Given the description of an element on the screen output the (x, y) to click on. 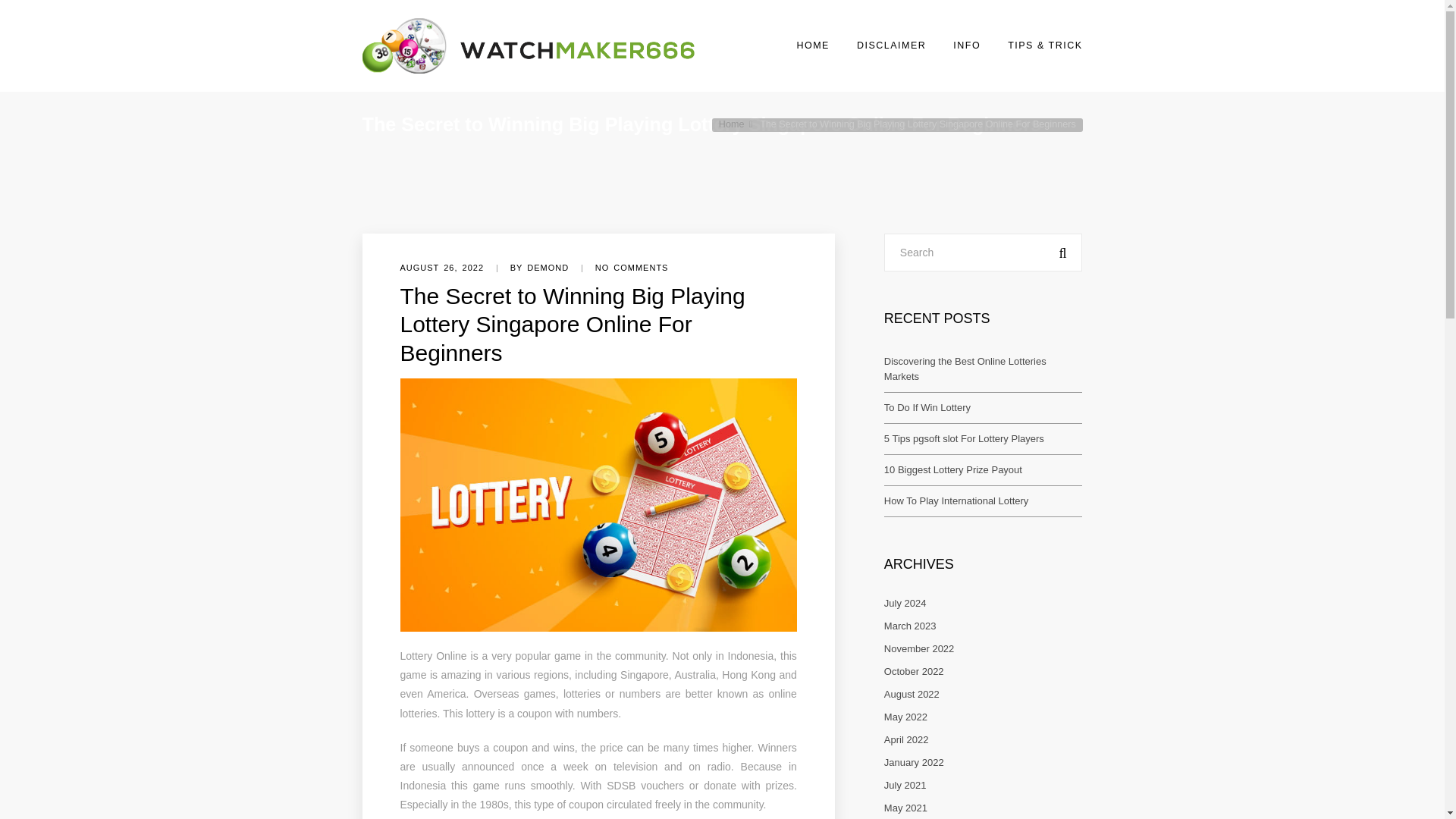
May 2021 (905, 808)
5 Tips pgsoft slot For Lottery Players (963, 438)
10 Biggest Lottery Prize Payout (952, 469)
HOME (812, 45)
July 2021 (904, 785)
Discovering the Best Online Lotteries Markets (964, 368)
How To Play International Lottery (956, 500)
NO COMMENTS (631, 266)
Home (738, 123)
July 2024 (904, 603)
DISCLAIMER (891, 45)
November 2022 (919, 648)
March 2023 (909, 625)
April 2022 (905, 739)
May 2022 (905, 716)
